Given the description of an element on the screen output the (x, y) to click on. 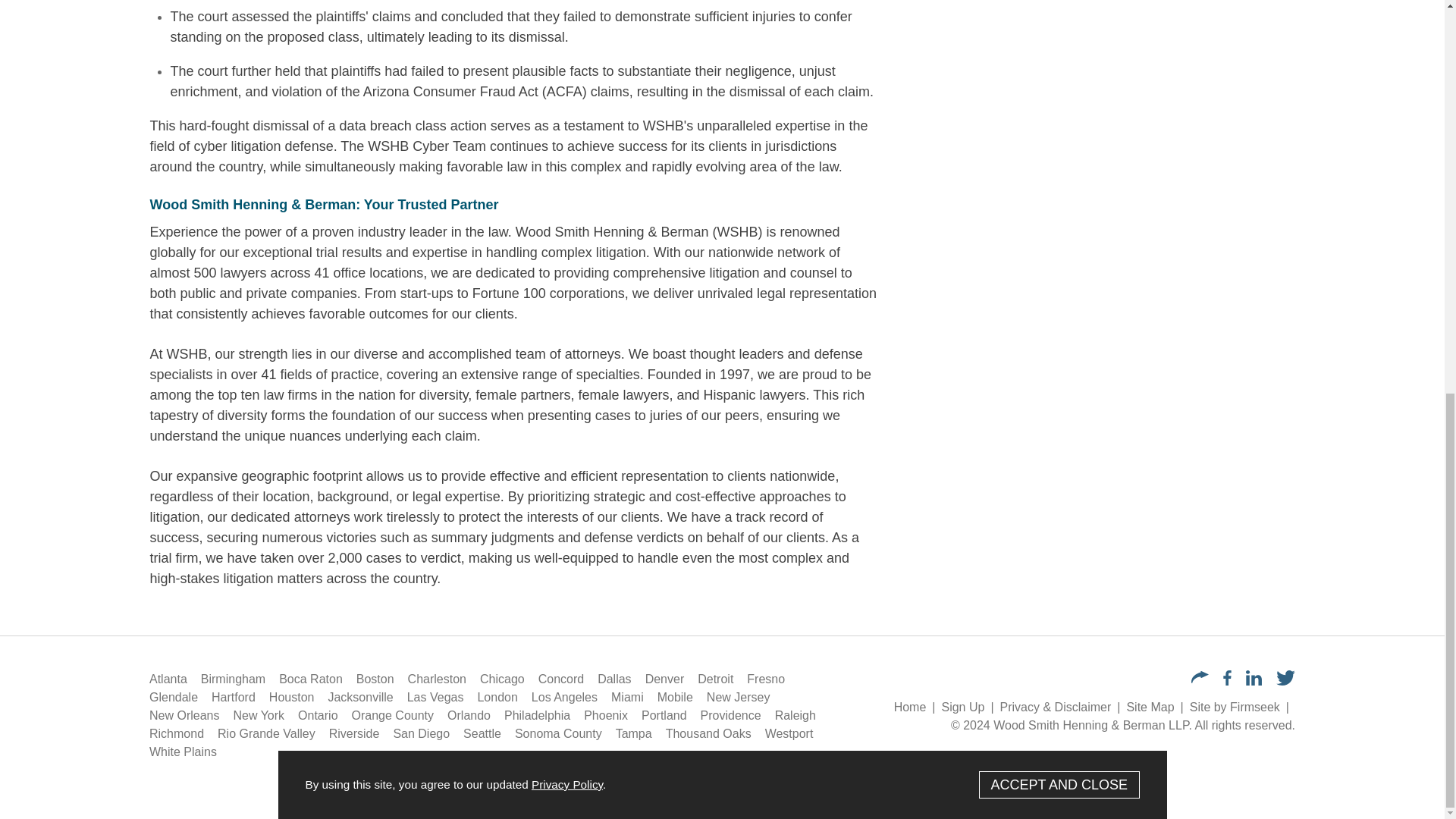
Twitter (1285, 677)
twitter (1285, 680)
LinkedIn (1254, 680)
LinkedIn (1254, 677)
Share Icon (1199, 676)
Share (1199, 678)
